Given the description of an element on the screen output the (x, y) to click on. 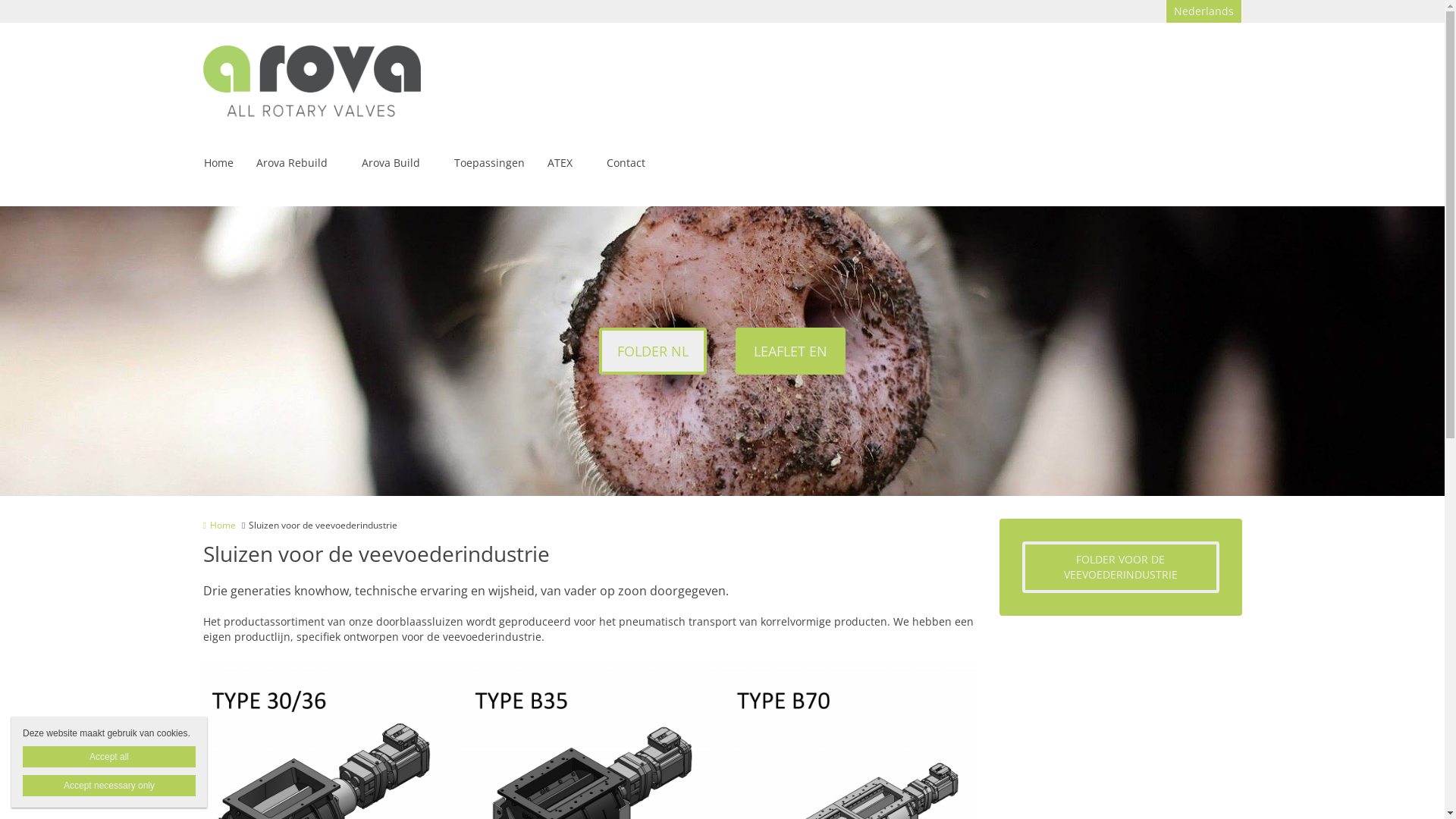
Home Element type: text (219, 524)
Arova Build Element type: text (390, 163)
FOLDER NL Element type: text (652, 350)
Home | Arova Sluizen Element type: hover (335, 83)
Home Element type: text (217, 163)
Contact Element type: text (624, 163)
Toepassingen Element type: text (488, 163)
Overslaan en naar de inhoud gaan Element type: text (81, 0)
Home | Arova Sluizen Element type: hover (312, 83)
LEAFLET EN Element type: text (790, 350)
ATEX Element type: text (559, 163)
Arova Rebuild Element type: text (291, 163)
Nederlands Element type: text (1204, 11)
FOLDER VOOR DE VEEVOEDERINDUSTRIE Element type: text (1120, 567)
Accept all Element type: text (108, 756)
Accept necessary only Element type: text (108, 785)
